Given the description of an element on the screen output the (x, y) to click on. 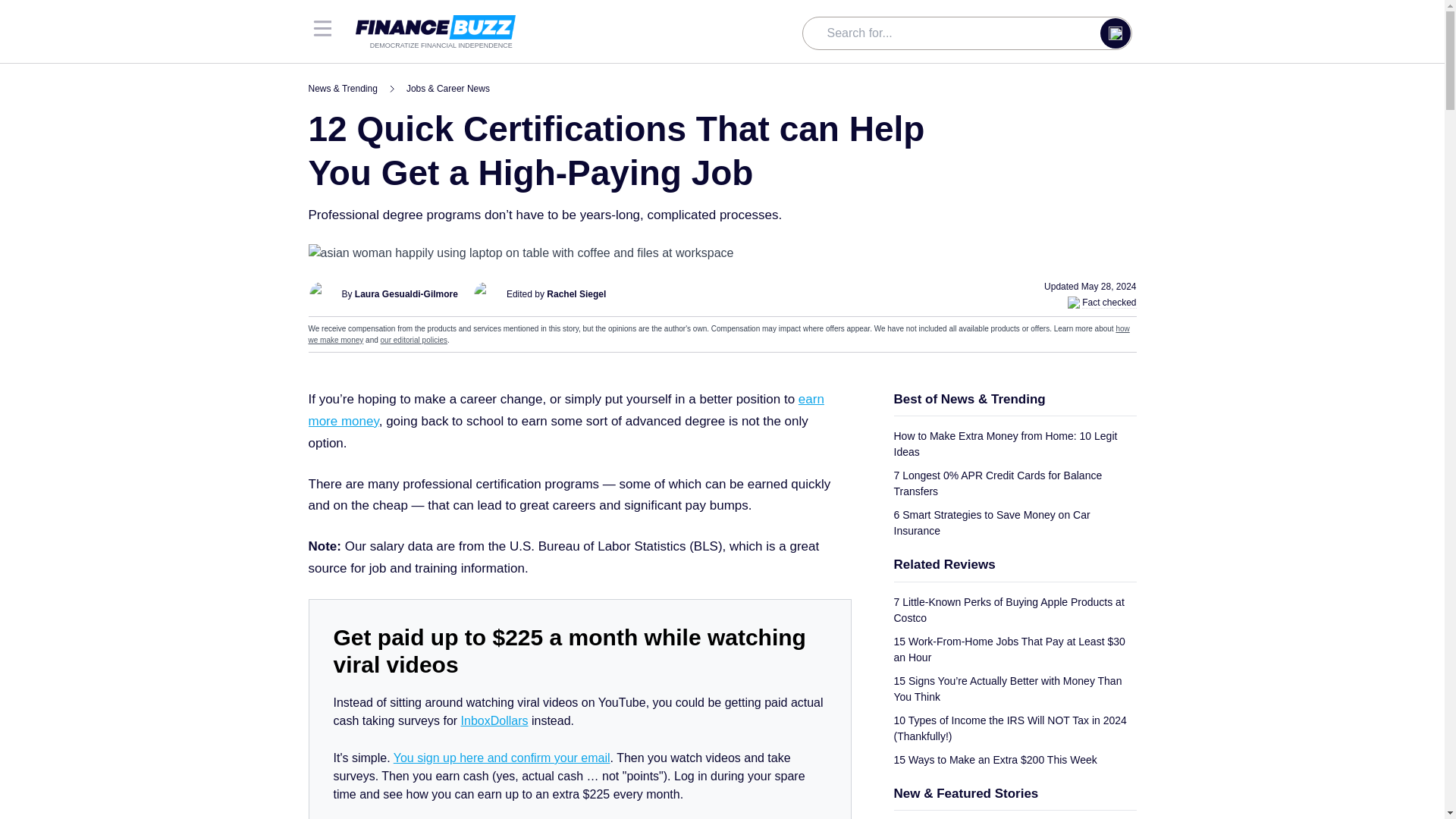
DEMOCRATIZE FINANCIAL INDEPENDENCE (435, 33)
